Given the description of an element on the screen output the (x, y) to click on. 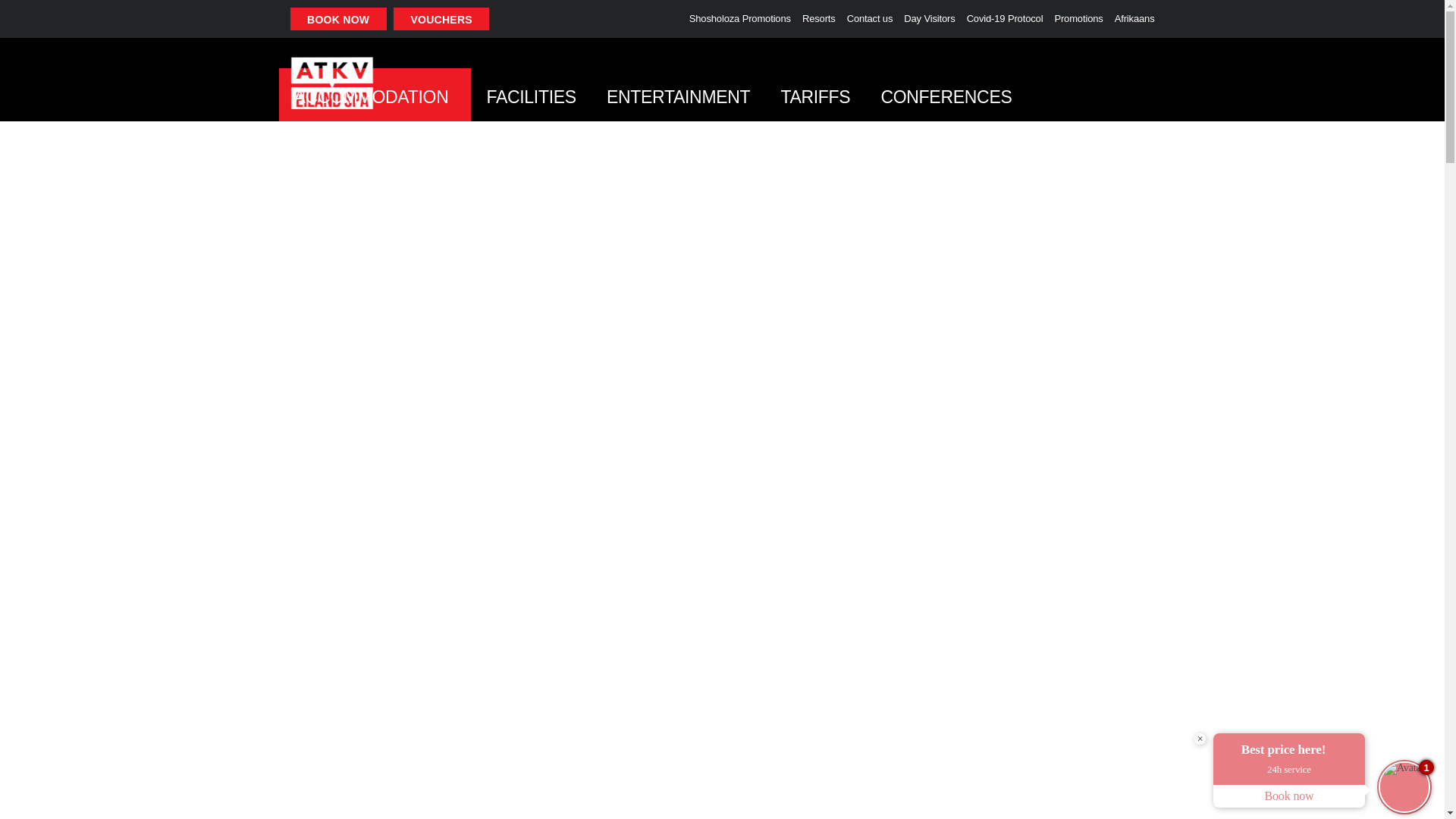
Afrikaans (1134, 18)
Shosholoza Promotions (739, 18)
Day Visitors (929, 18)
Skip to the content (721, 12)
Contact us (870, 18)
Promotions (1078, 18)
ACCOMMODATION (375, 94)
BOOK NOW (337, 18)
TARIFFS (814, 94)
Covid-19 Protocol (1004, 18)
